Given the description of an element on the screen output the (x, y) to click on. 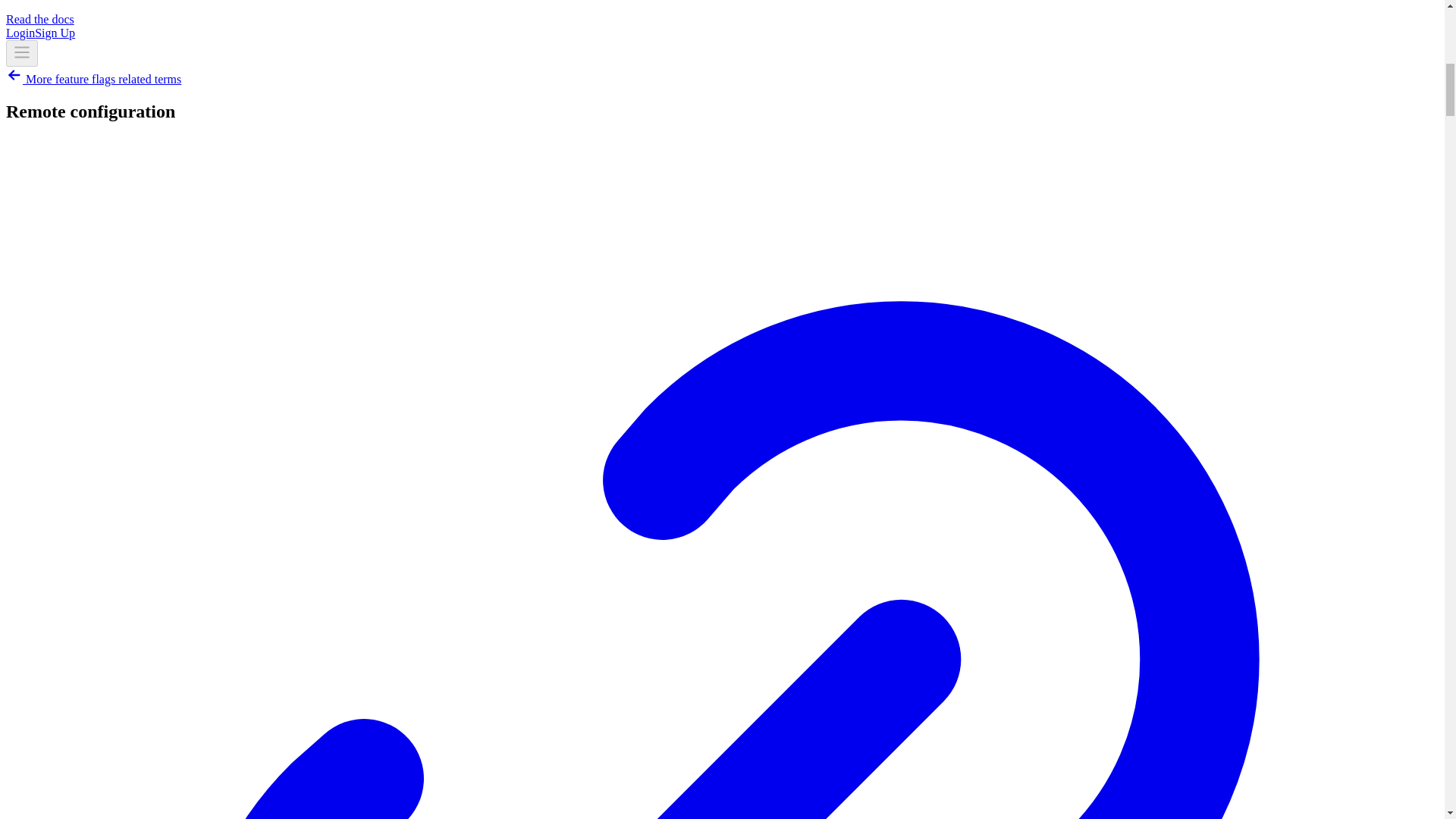
More feature flags related terms (92, 78)
Read the docs (39, 19)
Sign Up (54, 32)
Login (19, 32)
